Given the description of an element on the screen output the (x, y) to click on. 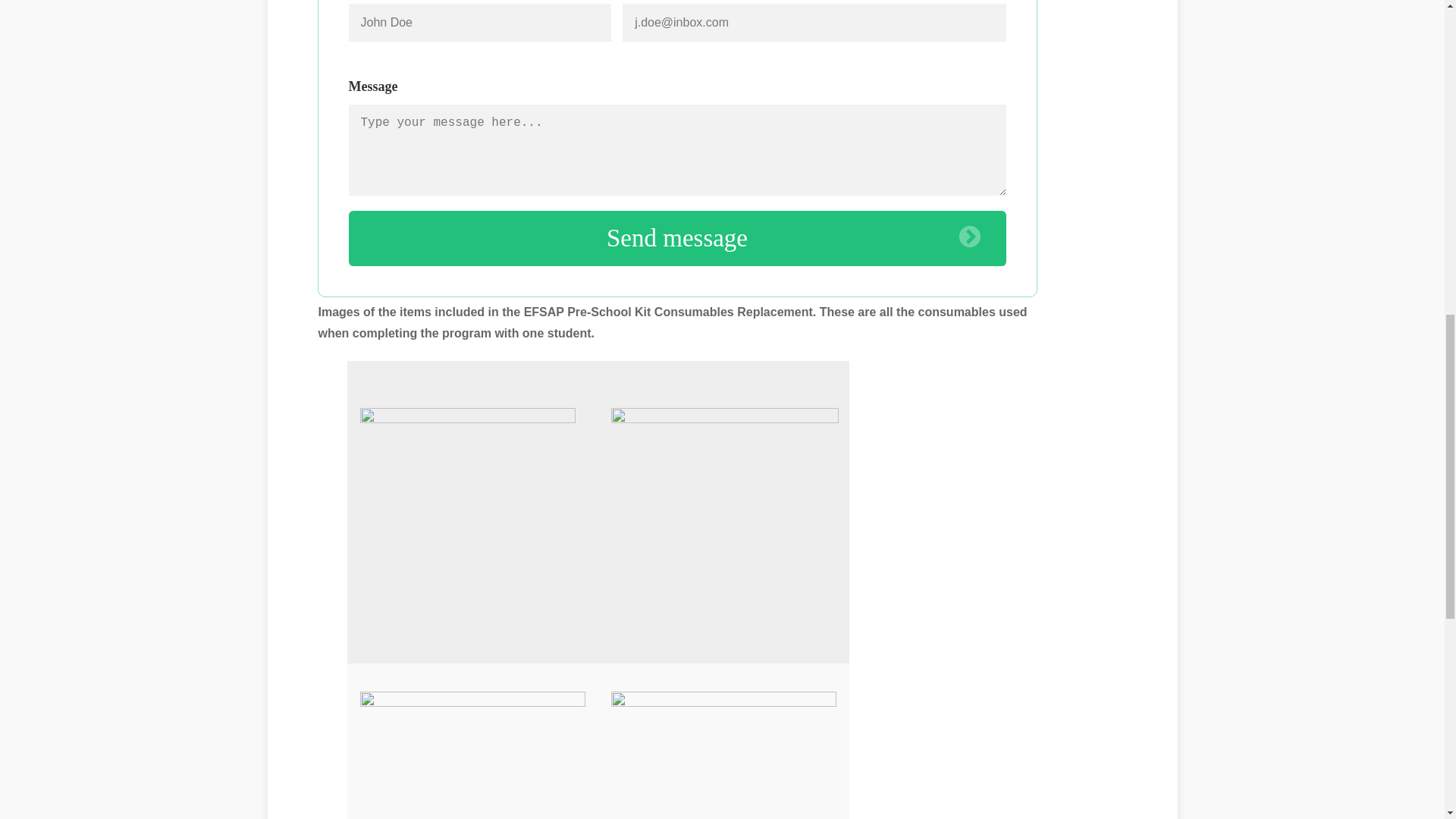
Kit Replentish 10 (467, 521)
Send message (677, 238)
Kit Replentish 11 (724, 483)
Kit Replentish 7 (723, 753)
Kit Replentish 8 (472, 747)
